Given the description of an element on the screen output the (x, y) to click on. 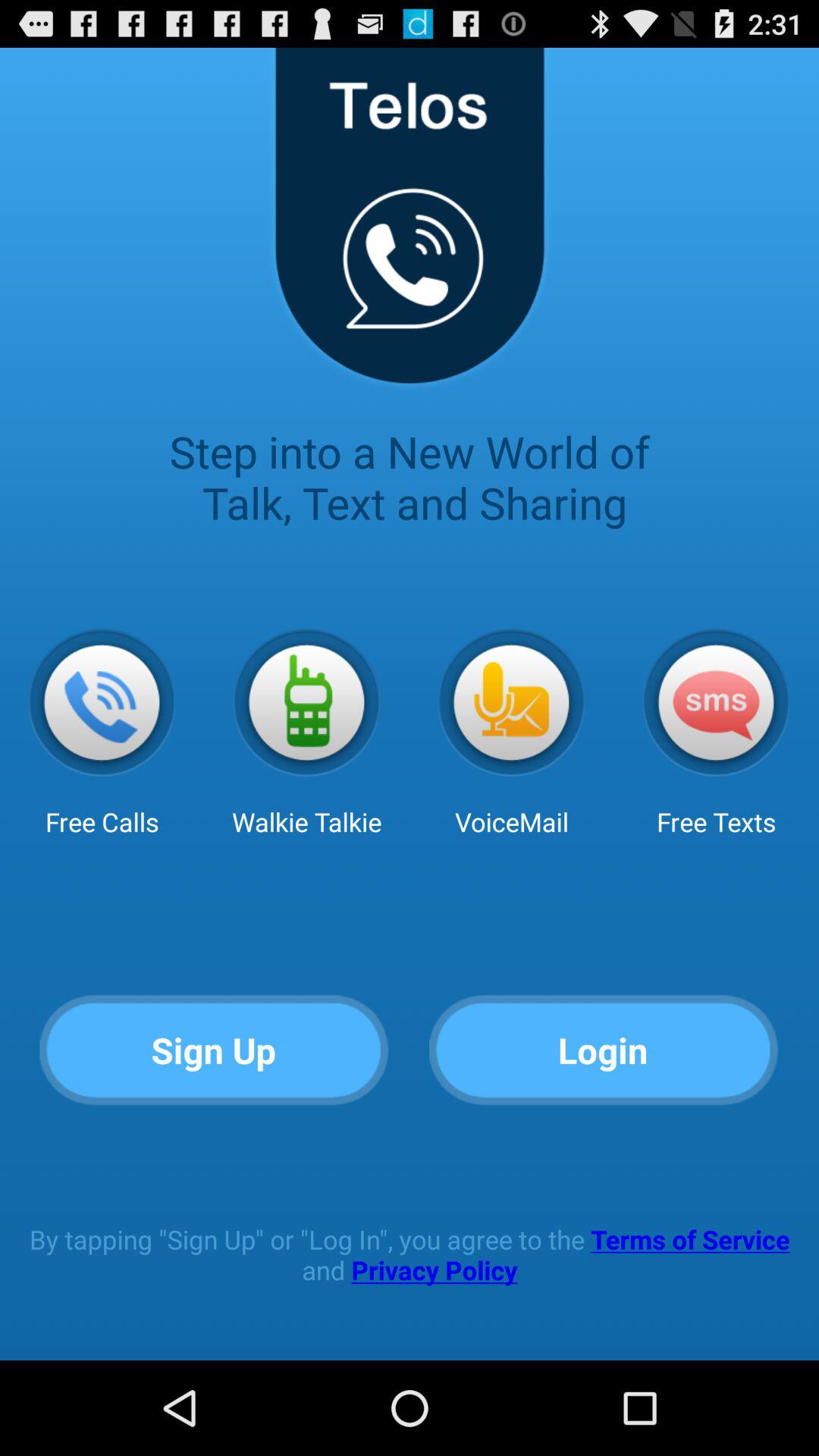
select item below the sign up icon (409, 1254)
